Given the description of an element on the screen output the (x, y) to click on. 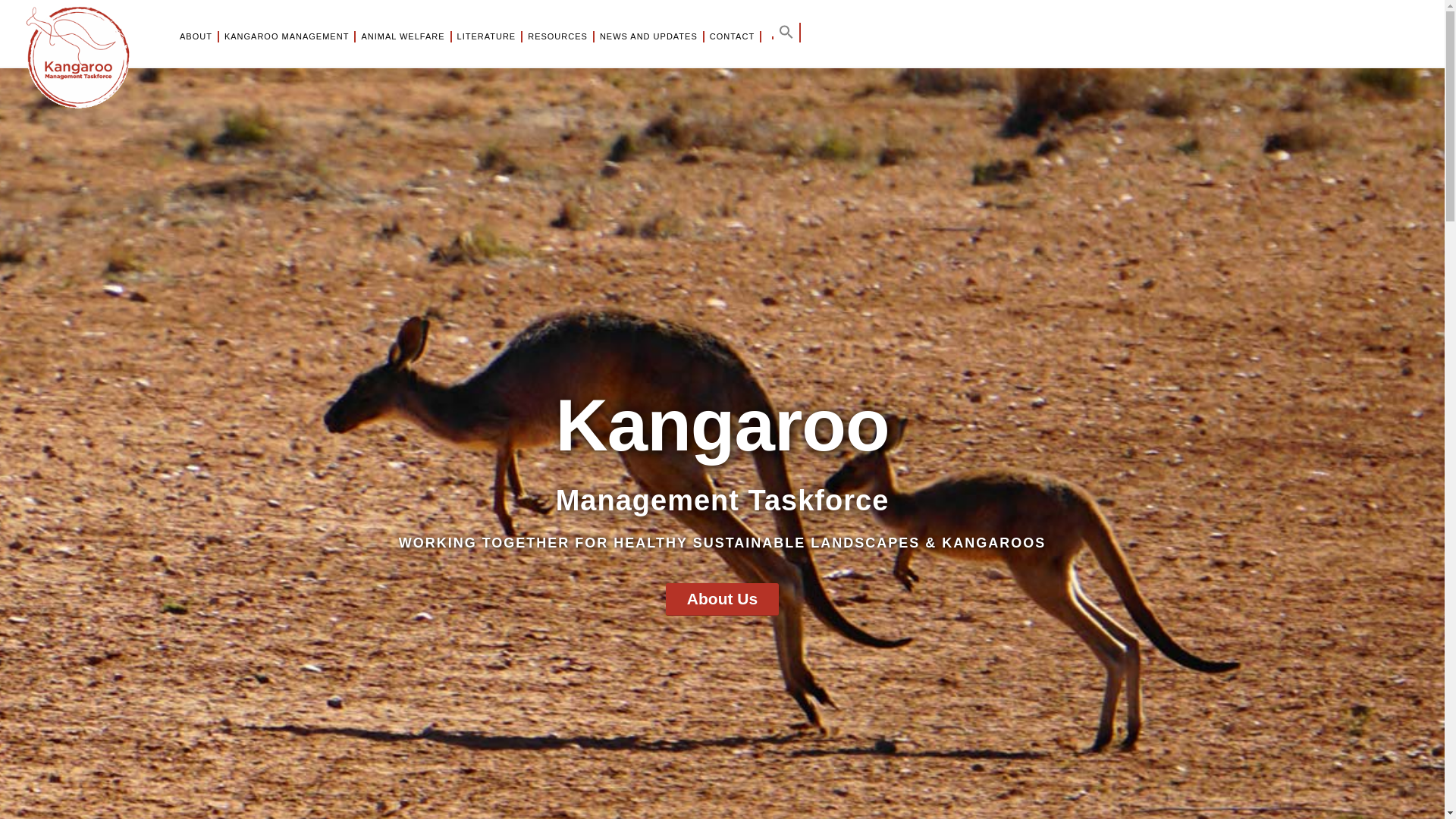
LITERATURE Element type: text (487, 36)
ANIMAL WELFARE Element type: text (403, 36)
About Us Element type: text (721, 599)
Skip to main content Element type: text (0, 0)
KANGAROO MANAGEMENT TASKFORCE Element type: text (98, 57)
NEWS AND UPDATES Element type: text (649, 36)
CONTACT Element type: text (732, 36)
RESOURCES Element type: text (558, 36)
KANGAROO MANAGEMENT Element type: text (287, 36)
ABOUT Element type: text (196, 36)
